Given the description of an element on the screen output the (x, y) to click on. 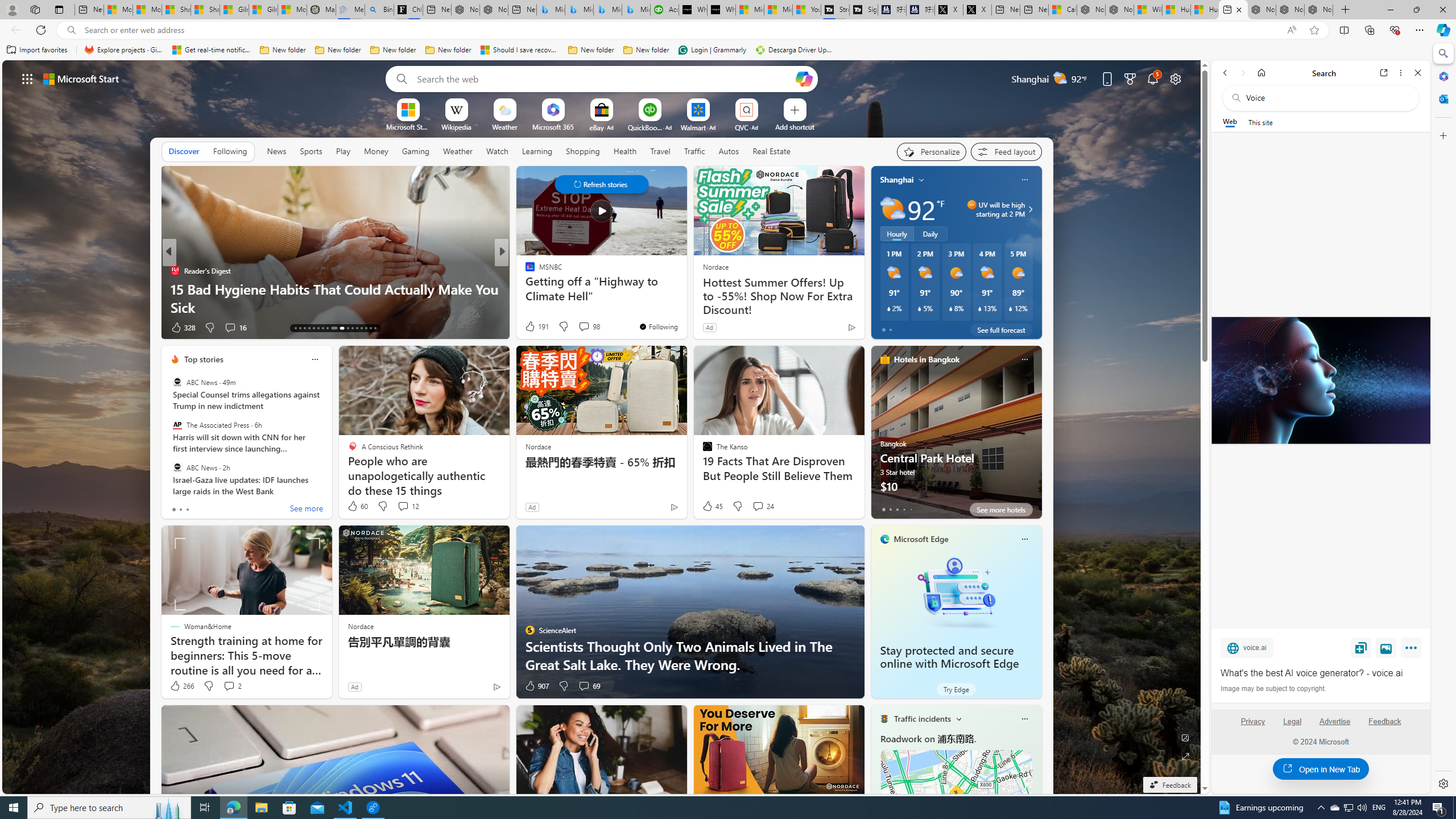
UV will be high starting at 2 PM (1028, 208)
Feedback (1384, 721)
Microsoft 365 (1442, 76)
Change scenarios (957, 718)
Class: control (600, 184)
View image (1385, 647)
Class: weather-arrow-glyph (1029, 208)
What's the best AI voice generator? - voice.ai (1320, 379)
29 Like (530, 327)
View comments 69 Comment (583, 685)
Expand background (1185, 756)
Shanghai, China weather forecast | Microsoft Weather (205, 9)
